Given the description of an element on the screen output the (x, y) to click on. 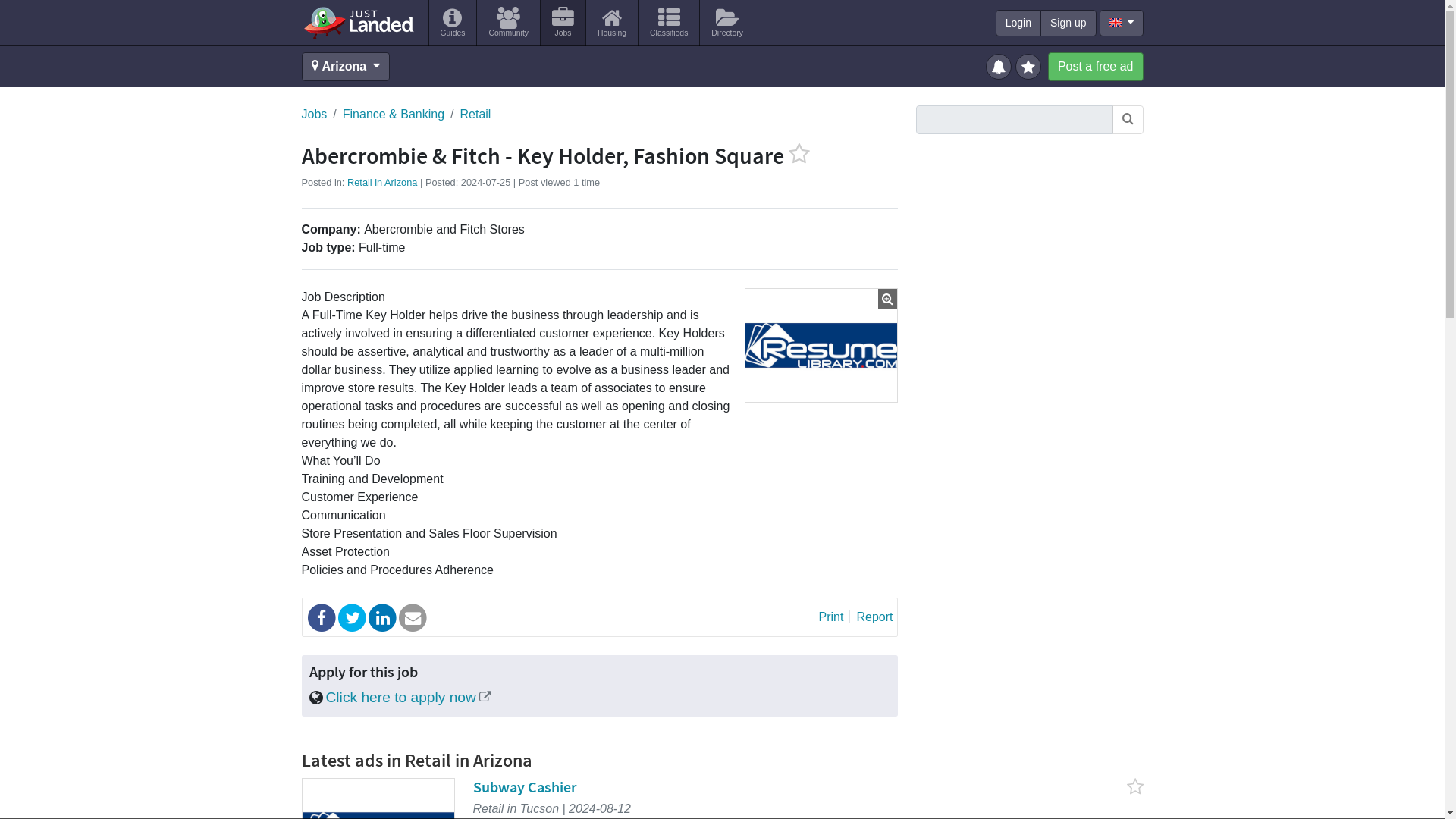
Just Landed (357, 22)
Share on Facebook (322, 617)
Community in Arizona (508, 22)
Guides (453, 22)
Jobs (314, 114)
Directory (727, 22)
Retail in Arizona (381, 182)
Housing in Arizona (611, 22)
Login (1018, 22)
Classifieds (668, 22)
